Given the description of an element on the screen output the (x, y) to click on. 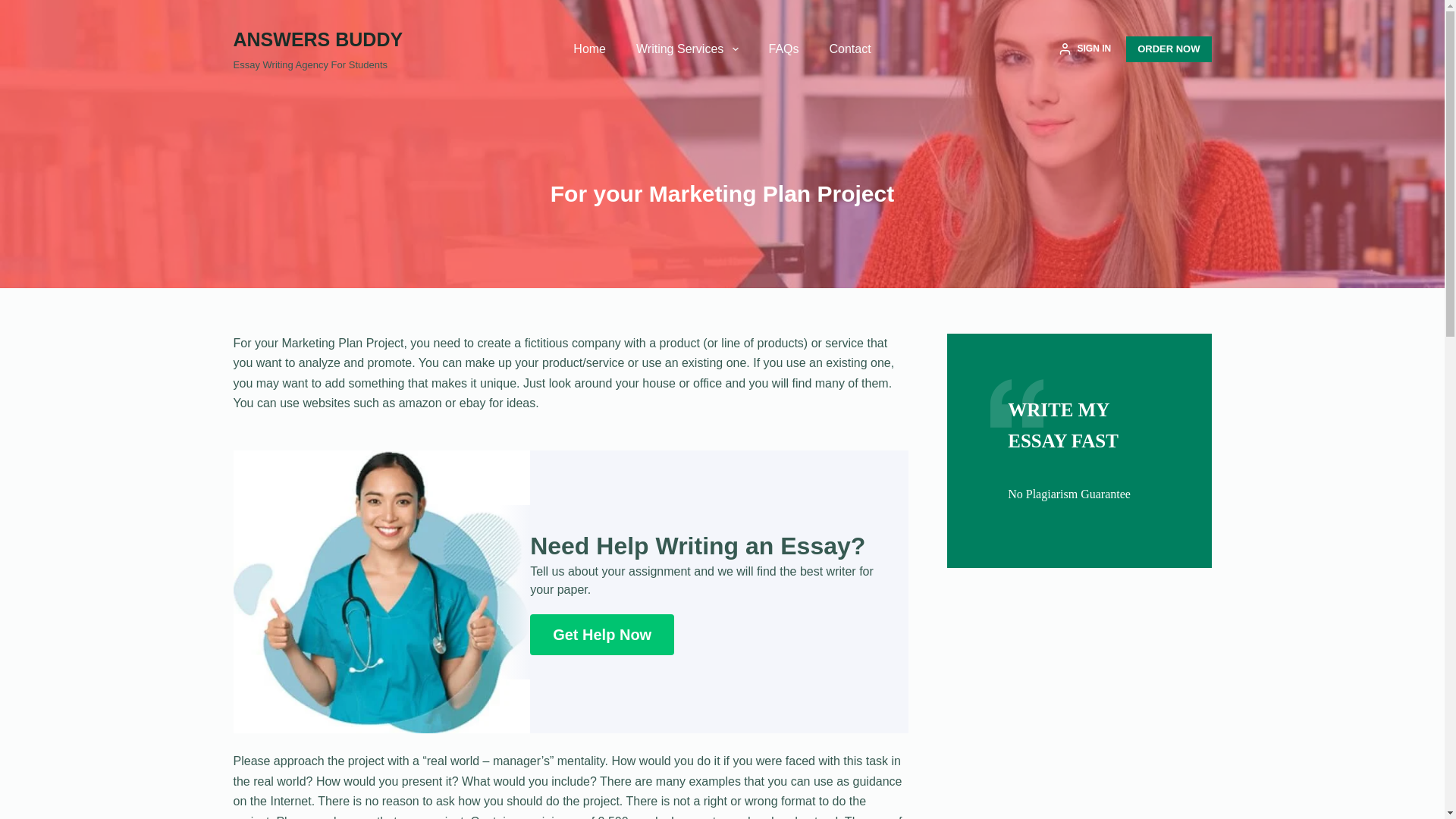
ORDER NOW (1168, 49)
ANSWERS BUDDY (317, 38)
Home (589, 49)
Contact (849, 49)
Writing Services (686, 49)
FAQs (783, 49)
Skip to content (15, 7)
For  your Marketing Plan Project (721, 192)
Get Help Now (601, 634)
SIGN IN (1084, 48)
